Given the description of an element on the screen output the (x, y) to click on. 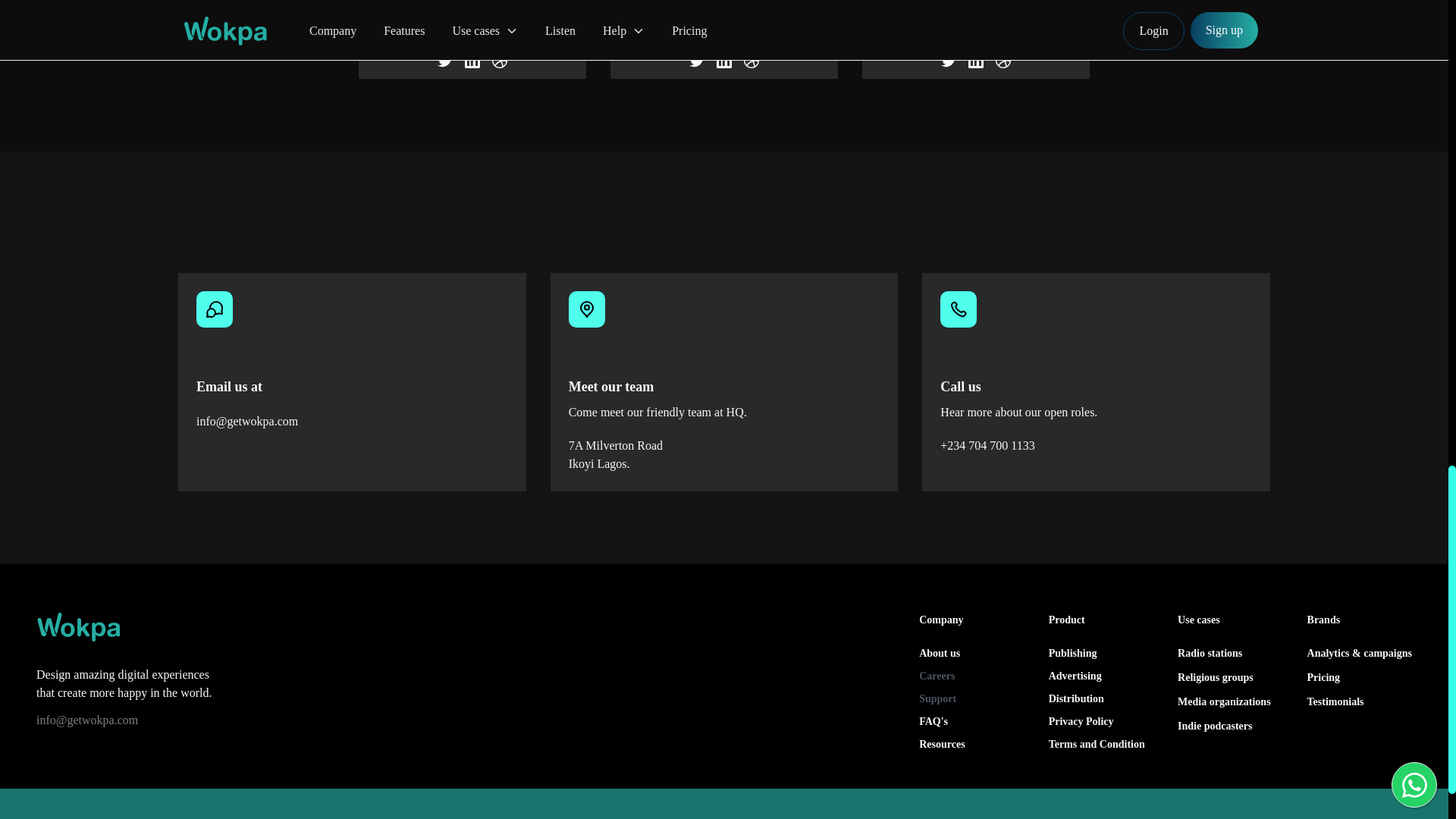
Read more (976, 37)
Pricing (1323, 677)
Support (970, 698)
Testimonials (1335, 701)
Terms and Condition (1100, 744)
Resources (970, 744)
Read more (724, 37)
Radio stations (1209, 653)
Privacy Policy (1100, 721)
Careers (970, 676)
